Given the description of an element on the screen output the (x, y) to click on. 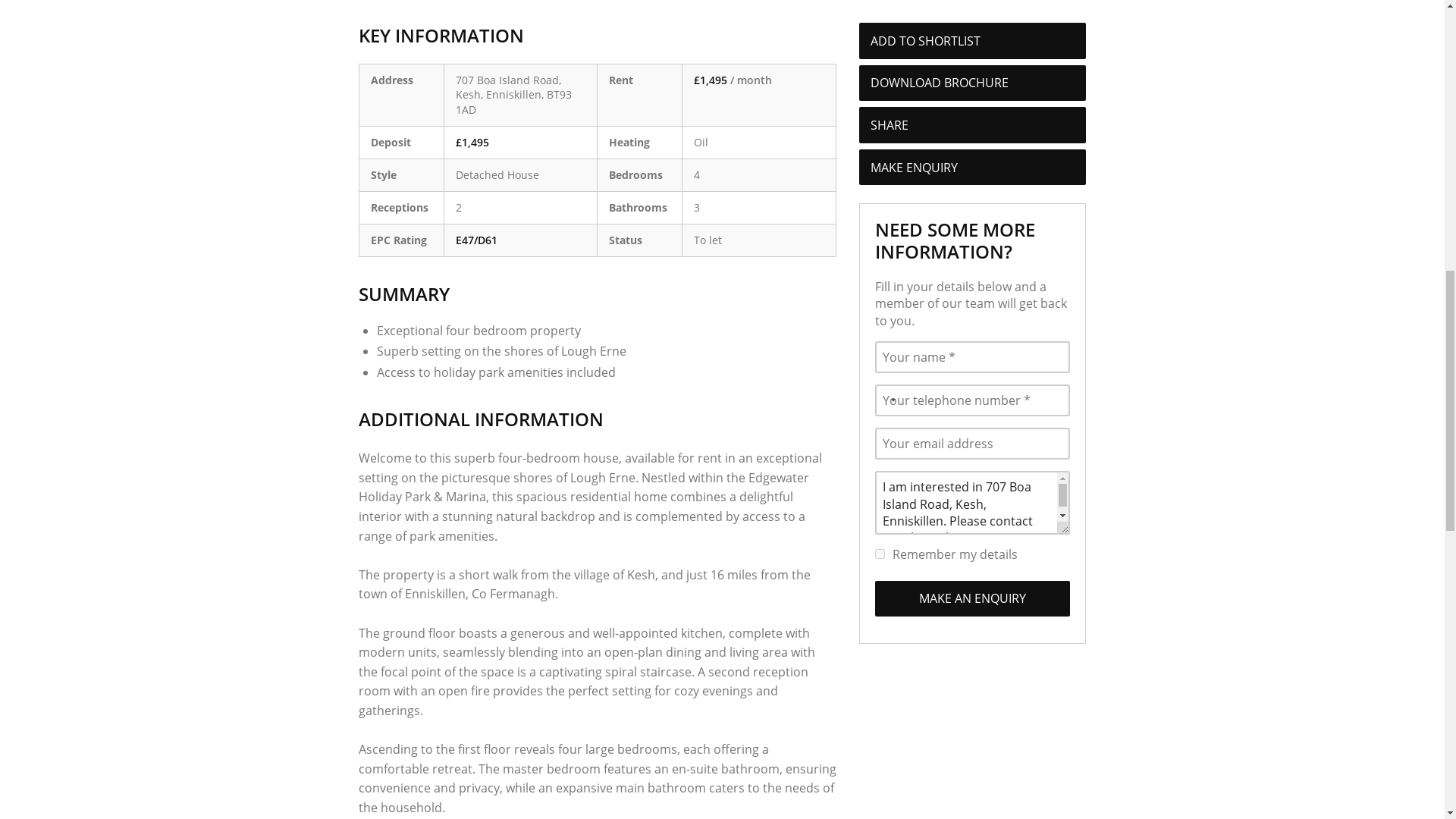
true (880, 553)
